Given the description of an element on the screen output the (x, y) to click on. 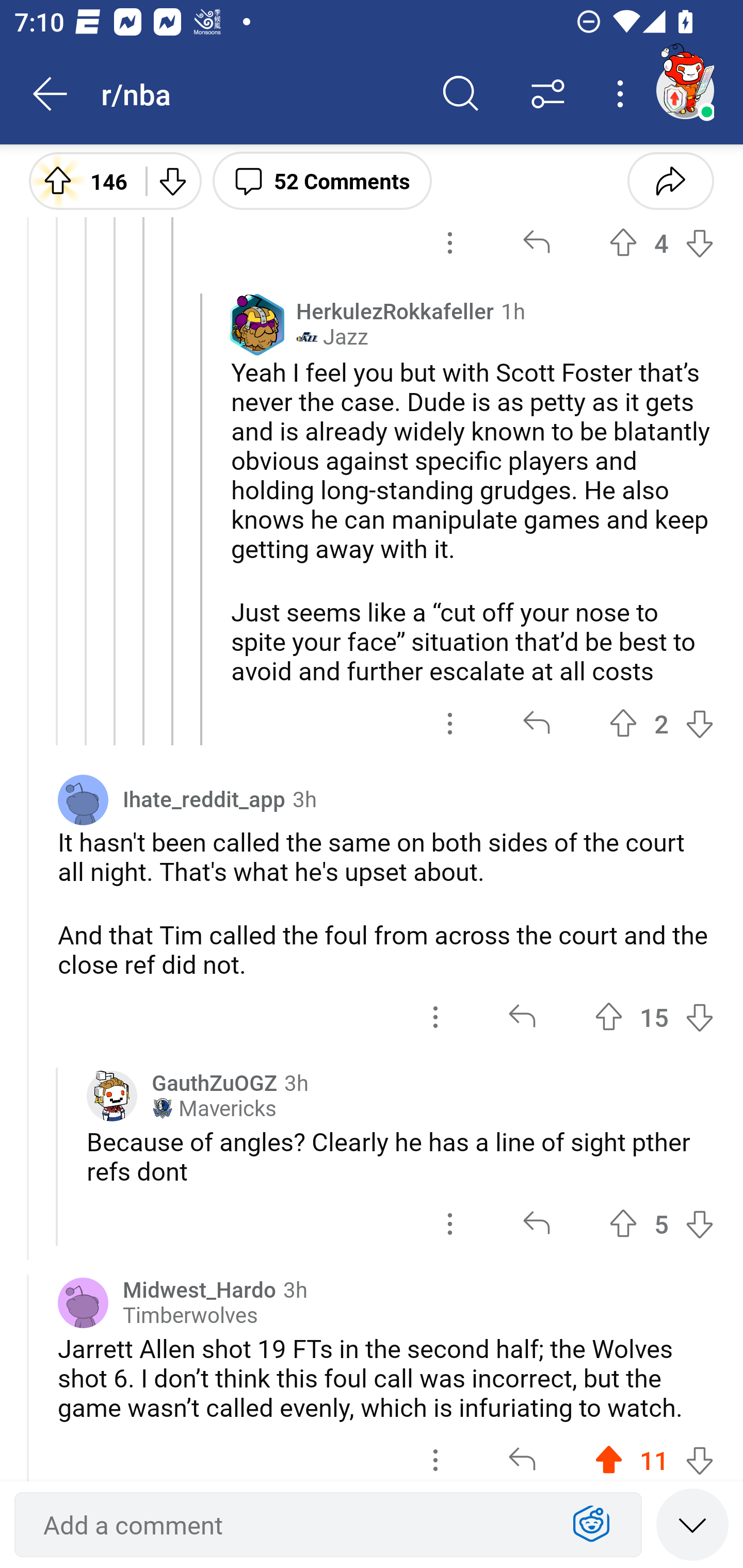
Back (50, 93)
TestAppium002 account (685, 90)
Search comments (460, 93)
Sort comments (547, 93)
More options (623, 93)
r/nba (259, 92)
Upvote 146 (79, 180)
Downvote (171, 180)
52 Comments (321, 180)
Share (670, 180)
options (449, 242)
Upvote 4 4 votes Downvote (661, 242)
￼ Jazz (332, 336)
options (449, 723)
Upvote 2 2 votes Downvote (661, 723)
Avatar (82, 799)
options (435, 1017)
Upvote 15 15 votes Downvote (654, 1017)
Custom avatar (111, 1095)
￼ Mavericks (214, 1108)
options (449, 1224)
Upvote 5 5 votes Downvote (661, 1224)
Avatar (82, 1302)
Timberwolves (190, 1315)
options (435, 1452)
Upvote 11 11 votes Downvote (654, 1452)
Speed read (692, 1524)
Add a comment (291, 1524)
Show Expressions (590, 1524)
